Given the description of an element on the screen output the (x, y) to click on. 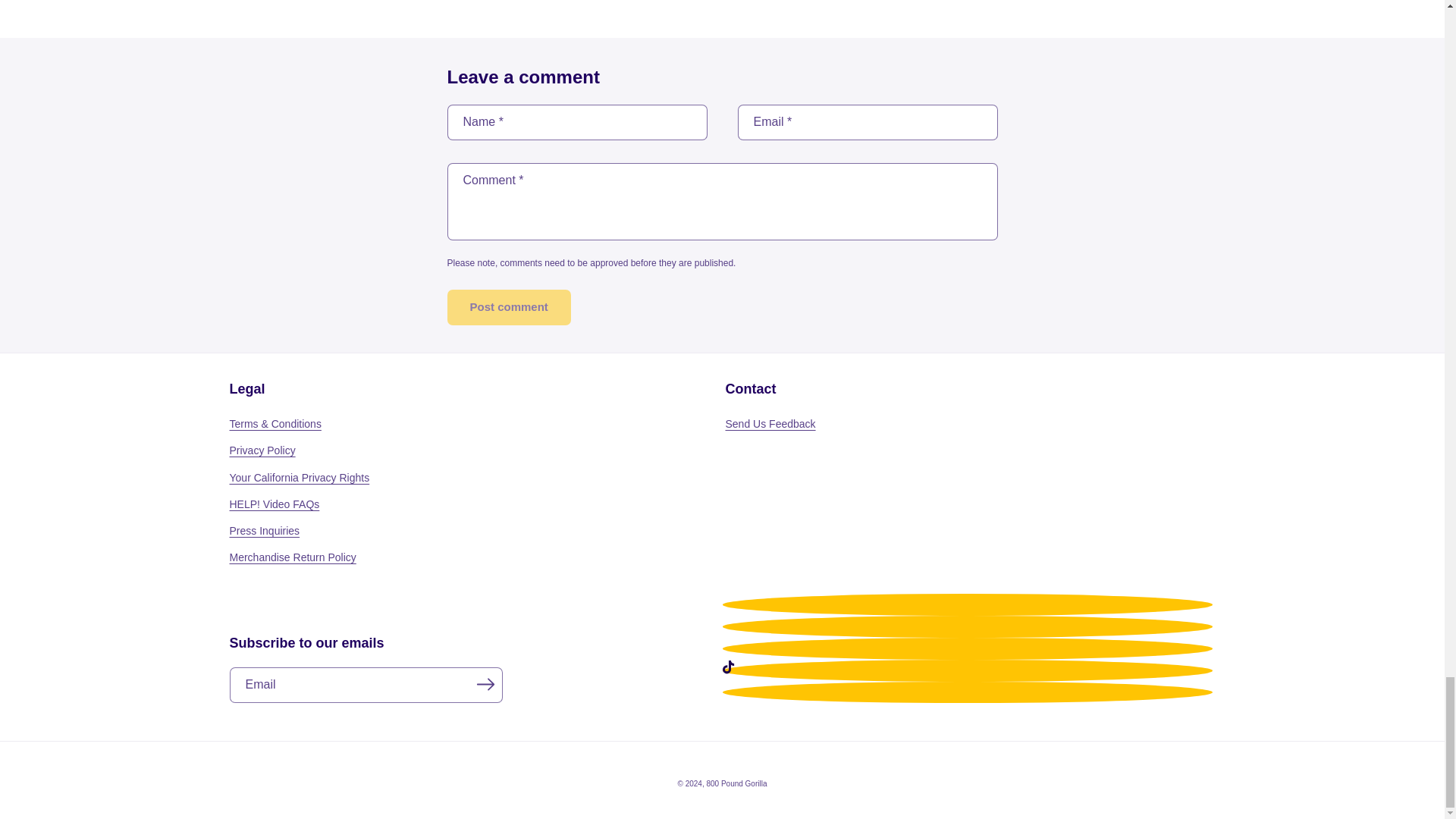
Post comment (508, 307)
